Given the description of an element on the screen output the (x, y) to click on. 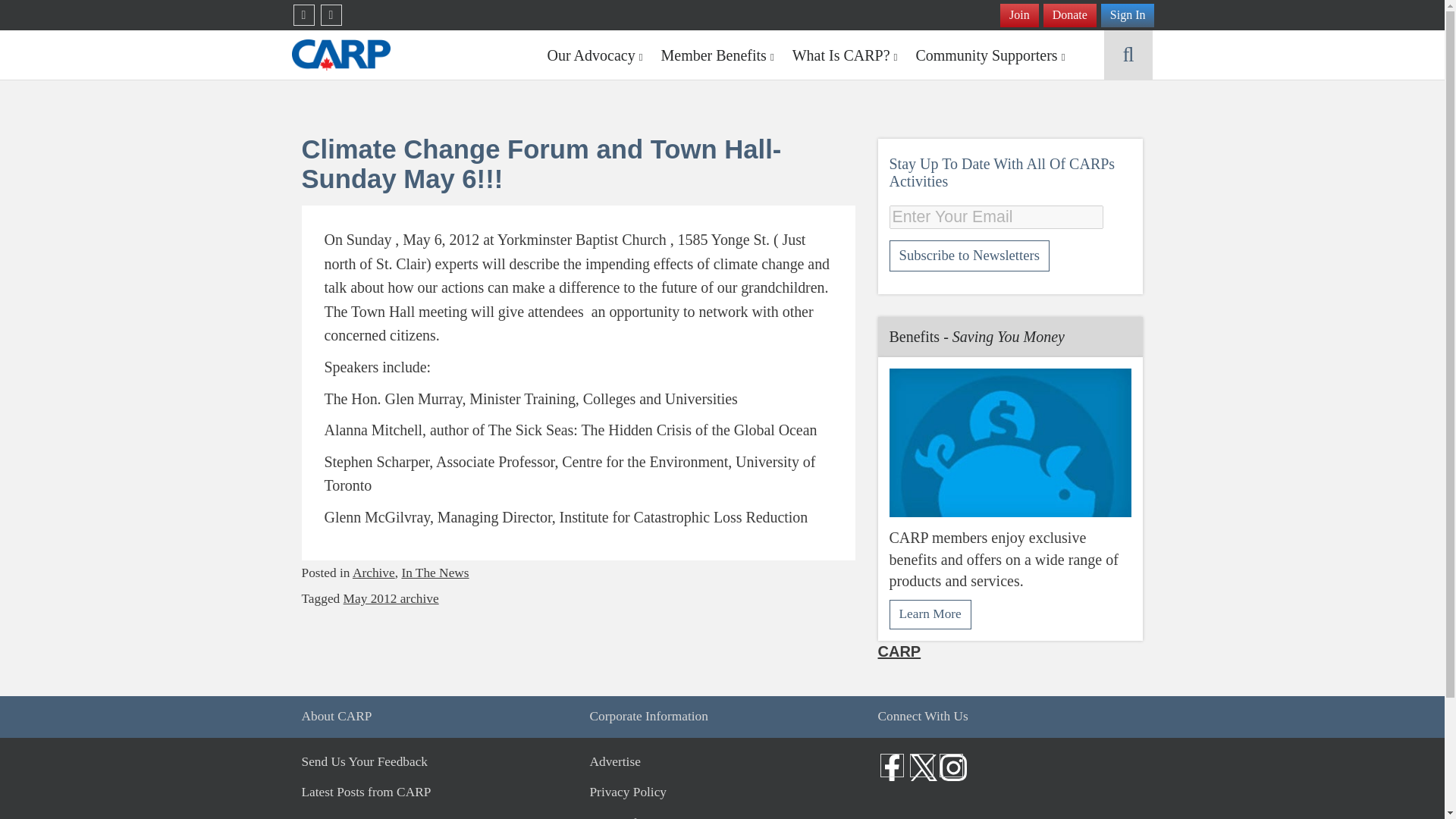
Sign In (1127, 15)
Join (1019, 15)
Donate (1069, 15)
